Given the description of an element on the screen output the (x, y) to click on. 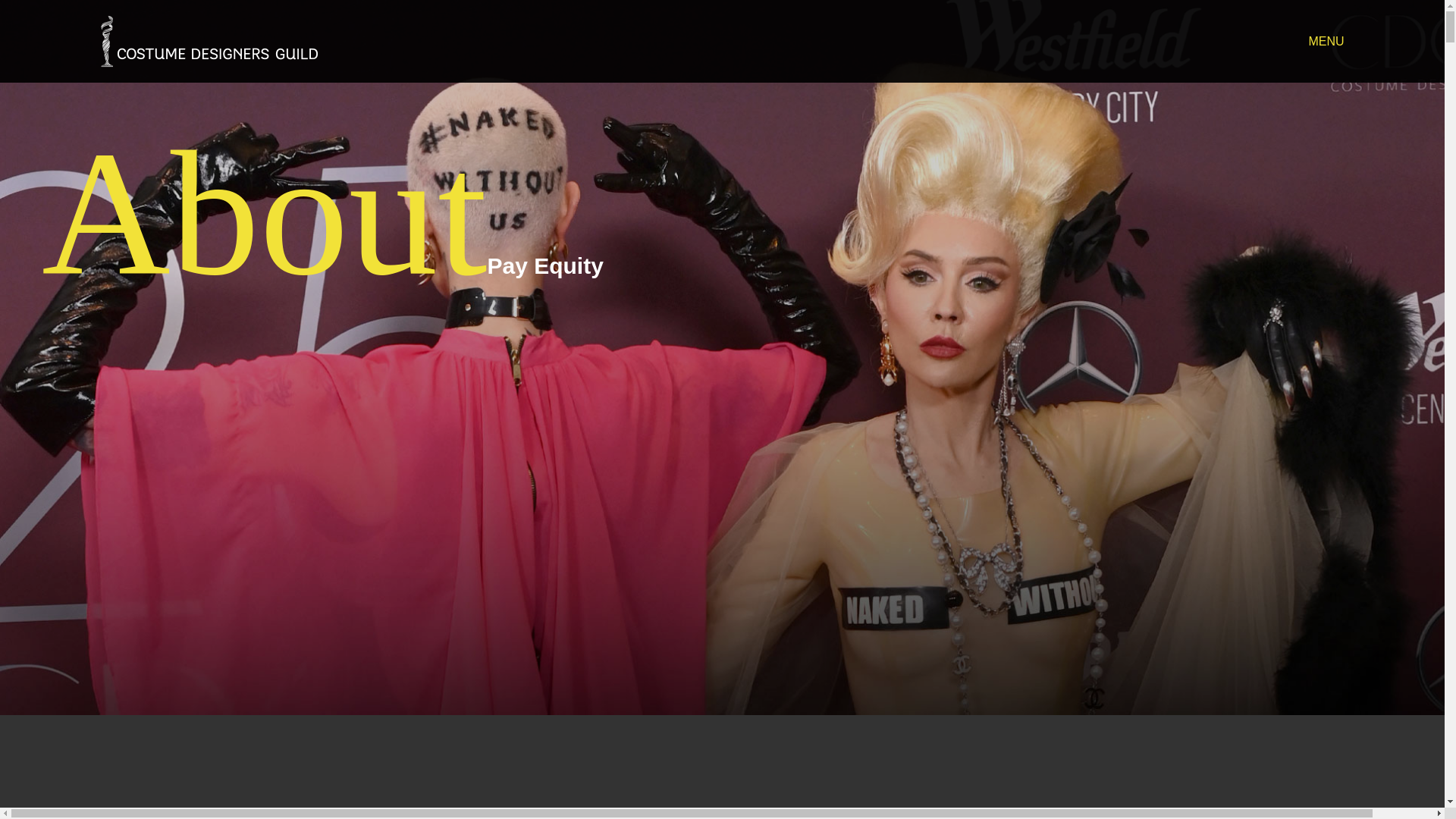
MENU (1325, 41)
